Given the description of an element on the screen output the (x, y) to click on. 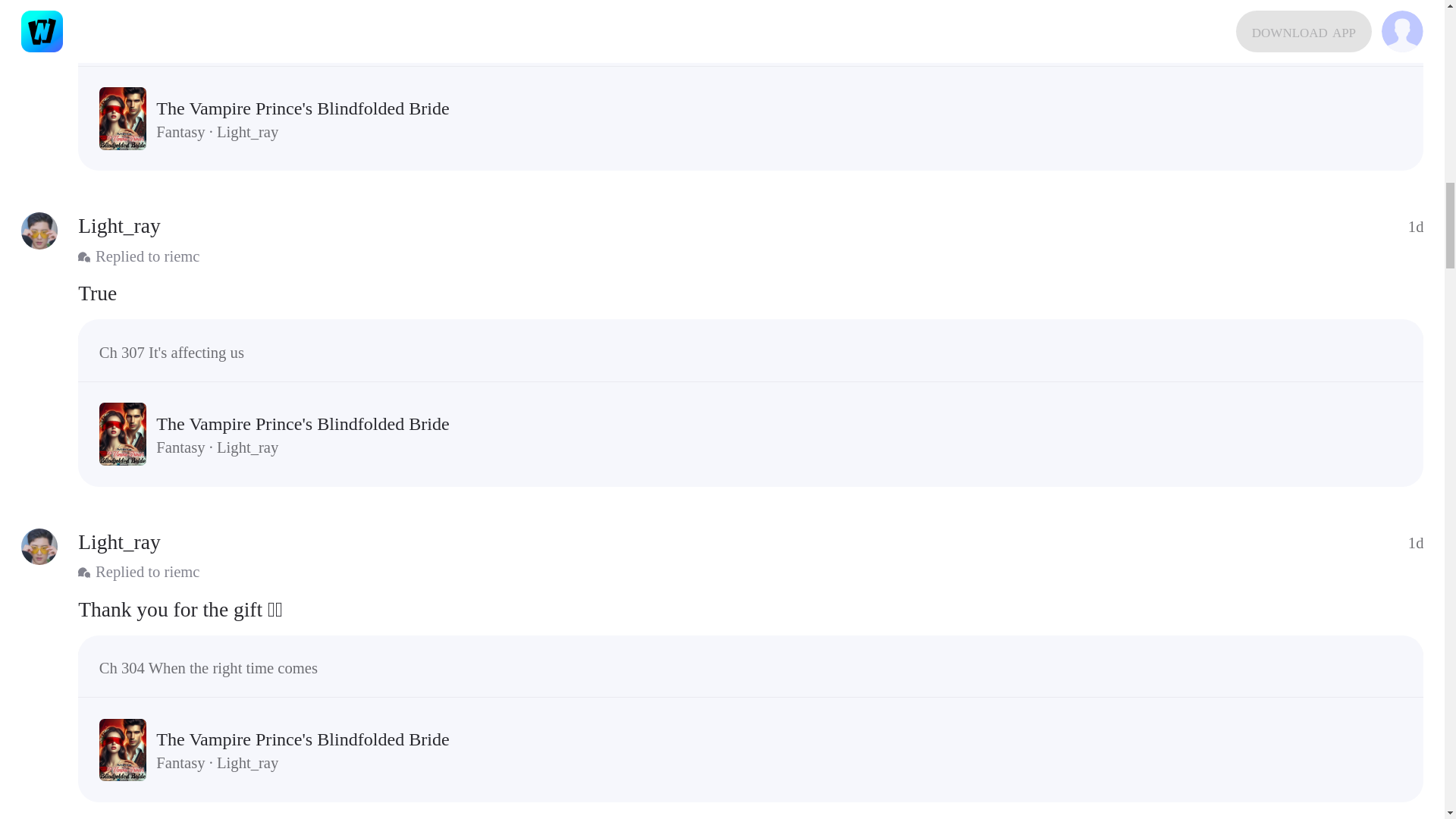
reply (750, 292)
reply (750, 608)
